Given the description of an element on the screen output the (x, y) to click on. 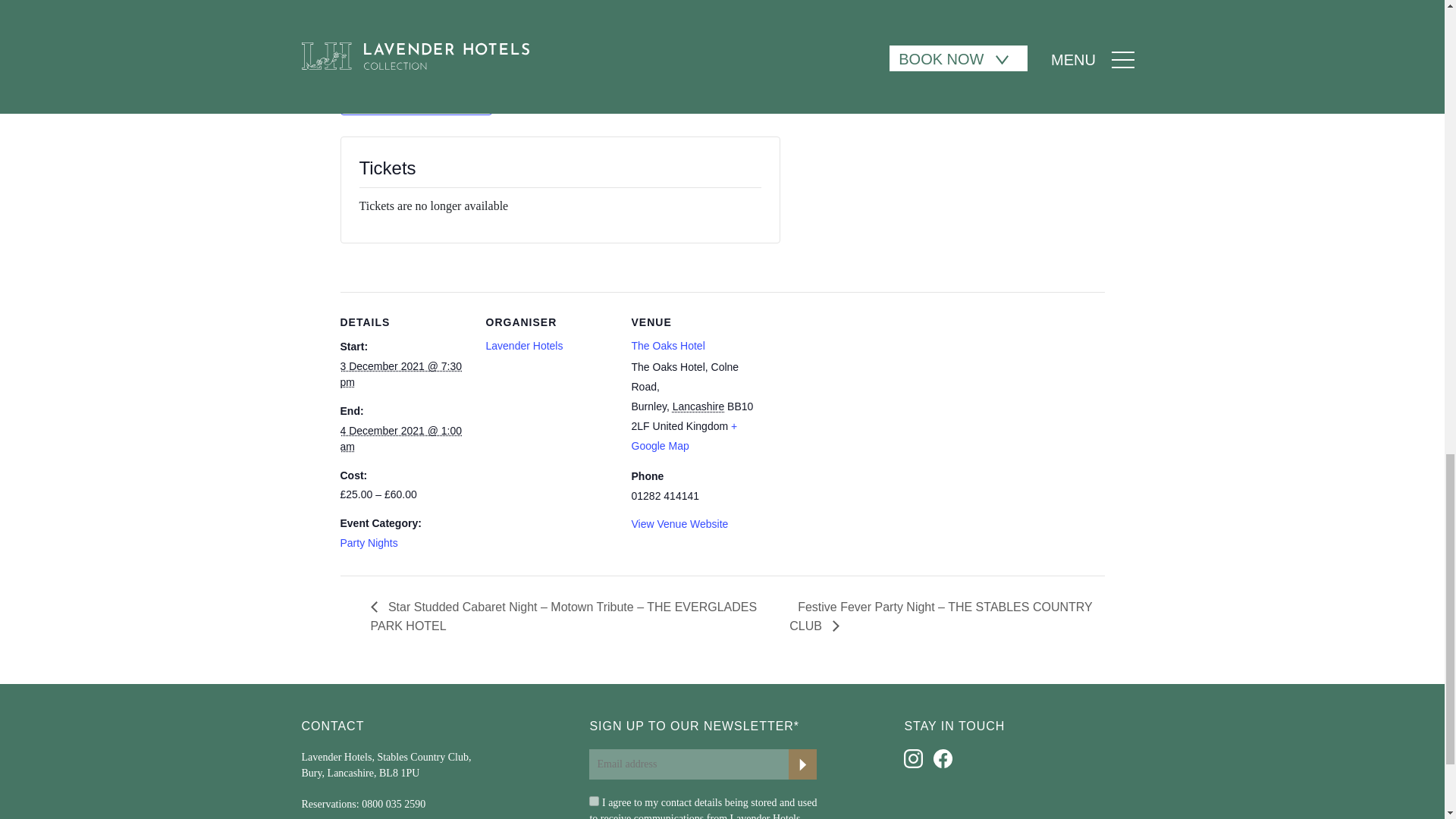
Google maps iframe displaying the address to The Oaks Hotel (856, 395)
2021-12-04 (400, 438)
Lavender Hotels (523, 345)
2021-12-03 (400, 374)
The Oaks Hotel (667, 345)
View Venue Website (679, 523)
Lavender Hotels (523, 345)
1 (593, 800)
Party Nights (368, 542)
Lancashire (698, 406)
Click to view a Google Map (683, 436)
Add to calendar (418, 100)
